Given the description of an element on the screen output the (x, y) to click on. 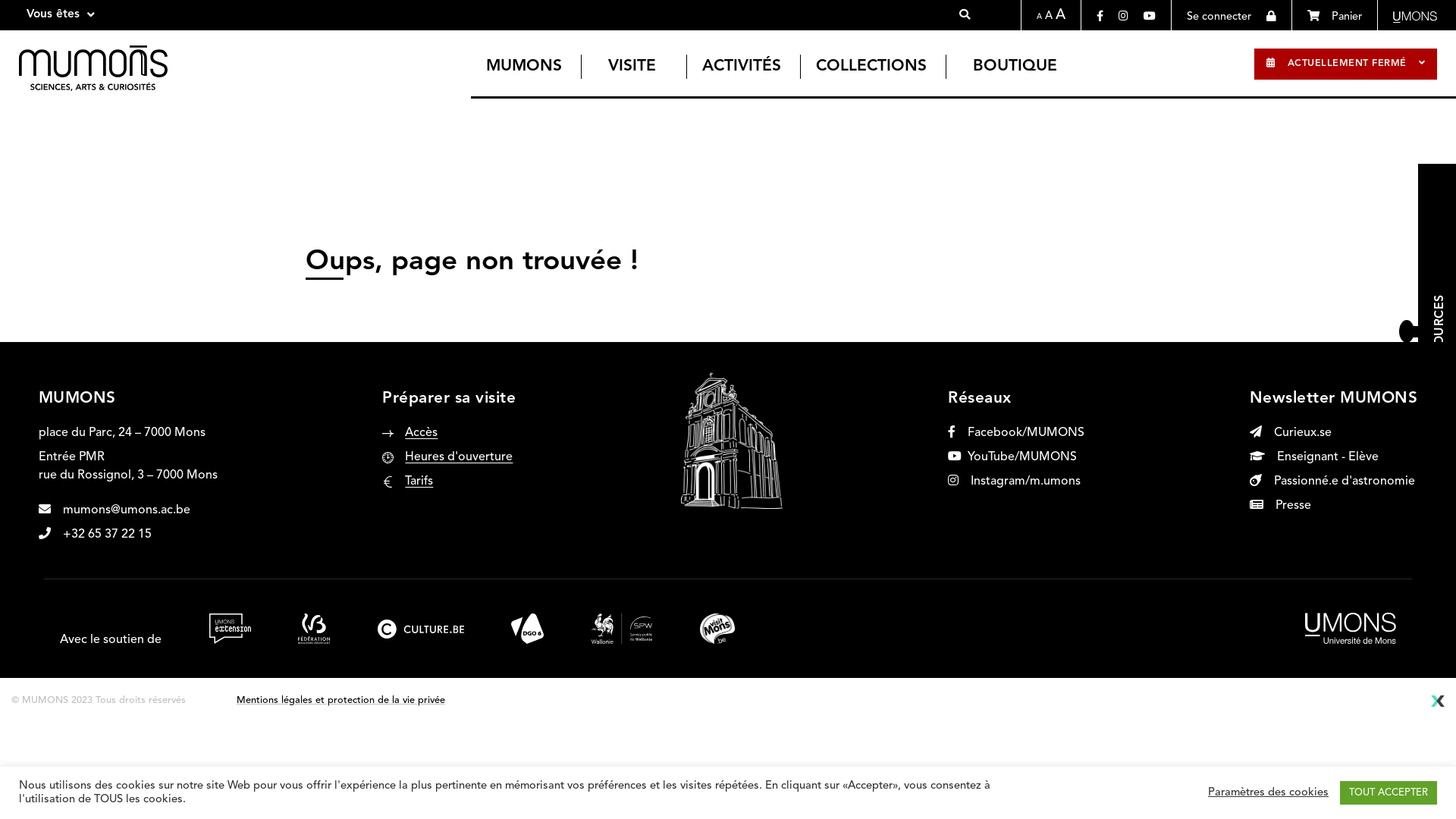
MUMONS Element type: text (523, 66)
YouTube/MUMONS Element type: text (1011, 457)
VISITE Element type: text (631, 66)
A
Decrease font size. Element type: text (1038, 16)
BOUTIQUE Element type: text (1014, 66)
+32 65 37 22 15 Element type: text (94, 534)
Curieux.se Element type: text (1290, 432)
TOUT ACCEPTER Element type: text (1388, 792)
Presse Element type: text (1280, 505)
Heures d'ouverture Element type: text (458, 457)
COLLECTIONS Element type: text (870, 66)
Instagram/m.umons Element type: text (1013, 481)
Tarifs Element type: text (418, 481)
Facebook/MUMONS Element type: text (1015, 432)
A
Increase font size. Element type: text (1060, 15)
A
Reset font size. Element type: text (1048, 15)
mumons@umons.ac.be Element type: text (114, 510)
